Given the description of an element on the screen output the (x, y) to click on. 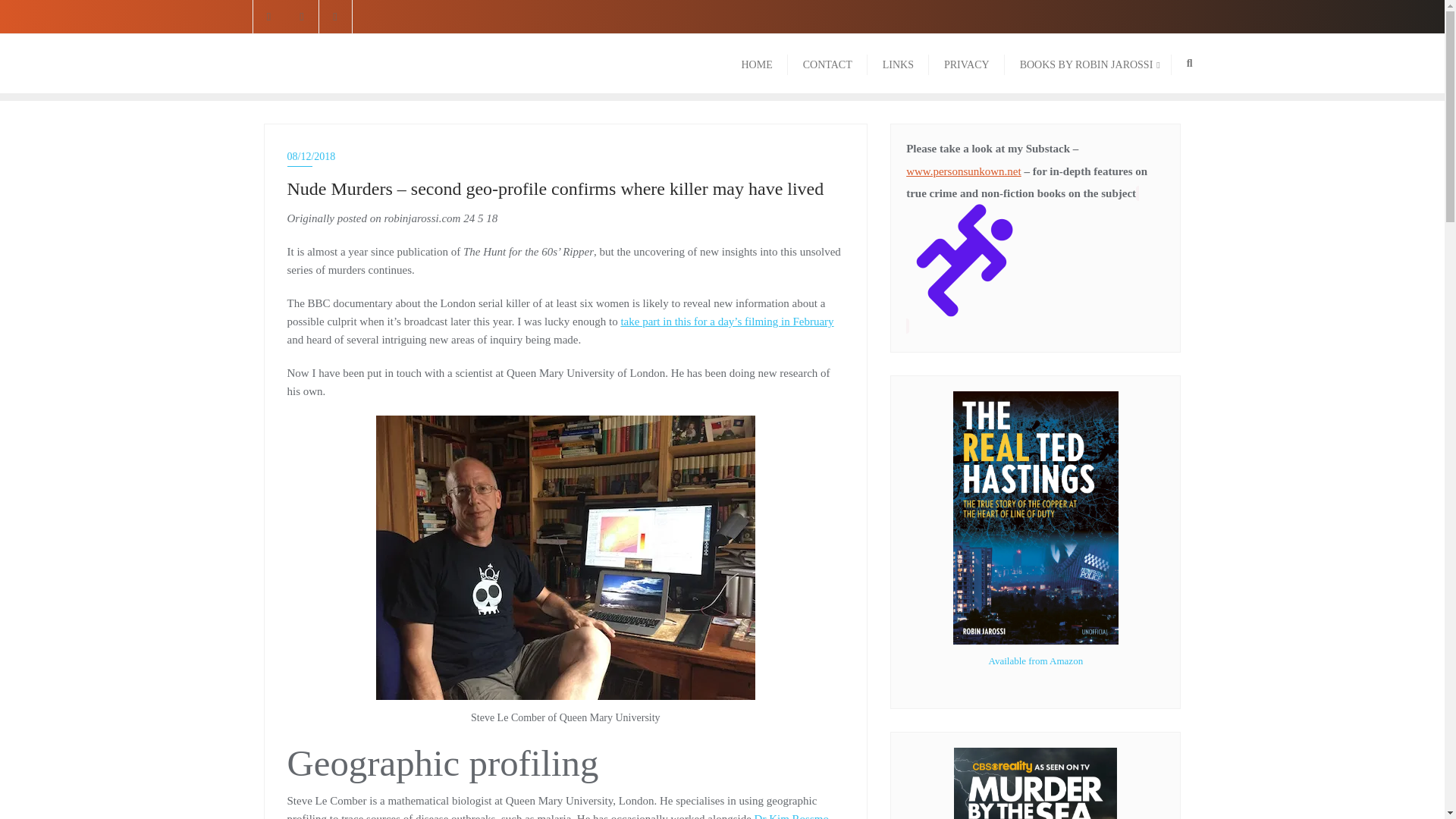
HOME (756, 63)
CONTACT (370, 63)
PRIVACY (827, 63)
LINKS (966, 63)
Dr Kim Rossmo (897, 63)
BOOKS BY ROBIN JAROSSI (791, 816)
